Given the description of an element on the screen output the (x, y) to click on. 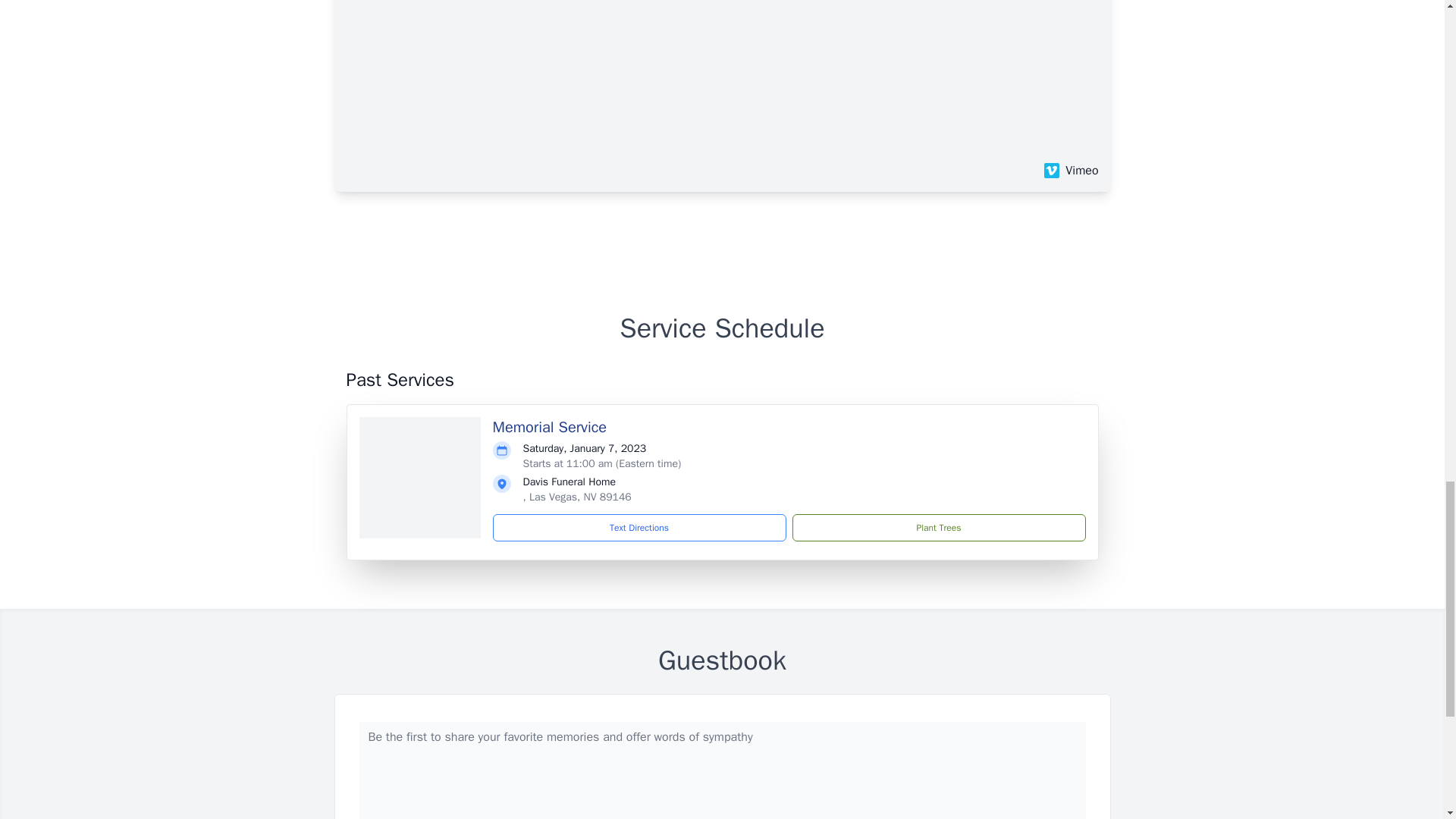
Plant Trees (938, 527)
Text Directions (639, 527)
, Las Vegas, NV 89146 (576, 496)
Vimeo Video (721, 77)
